Given the description of an element on the screen output the (x, y) to click on. 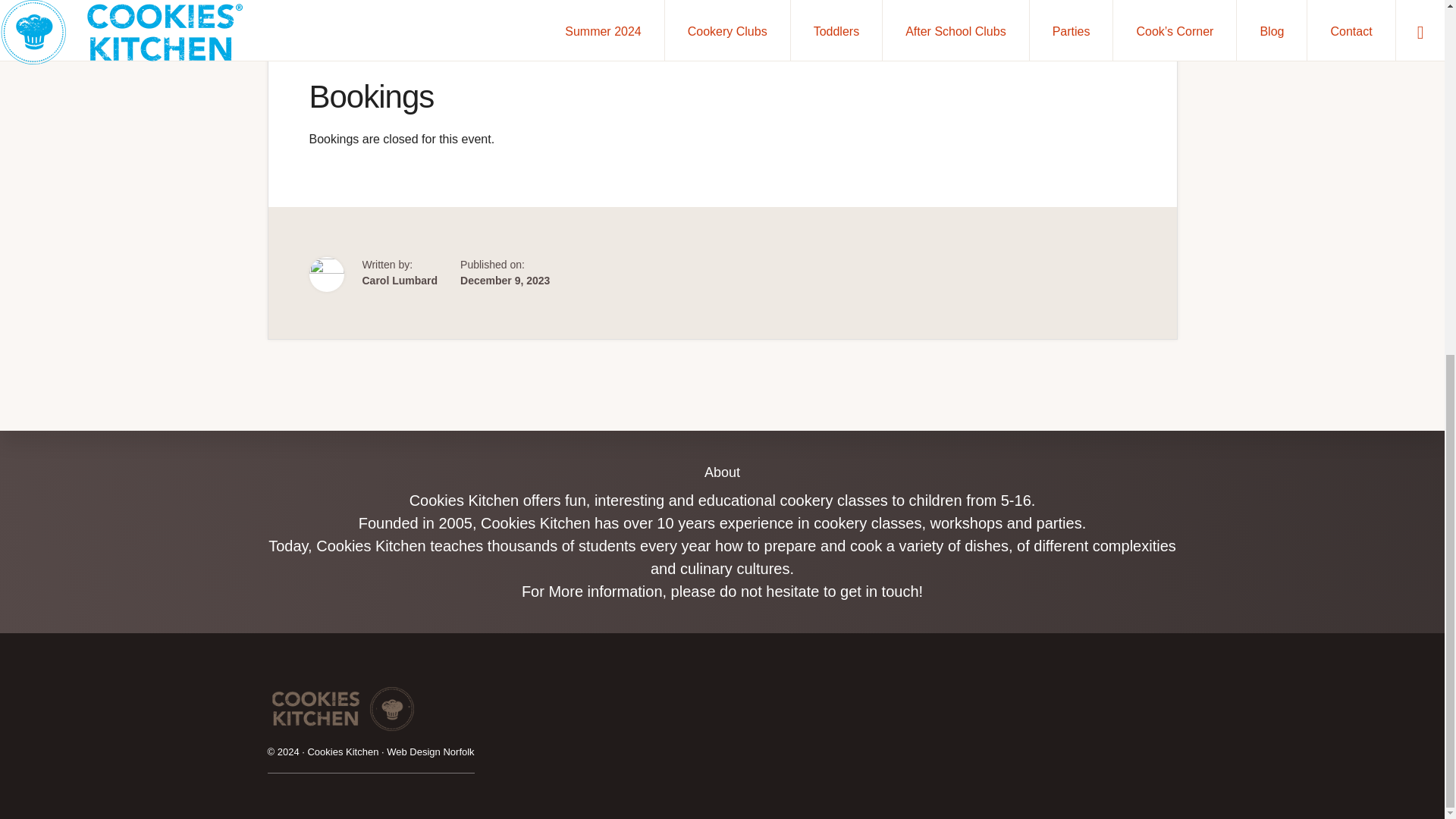
Cookies Kitchen (342, 130)
Web Design Norfolk (430, 130)
Xpose Web Design (430, 130)
Carol Lumbard (400, 280)
